Given the description of an element on the screen output the (x, y) to click on. 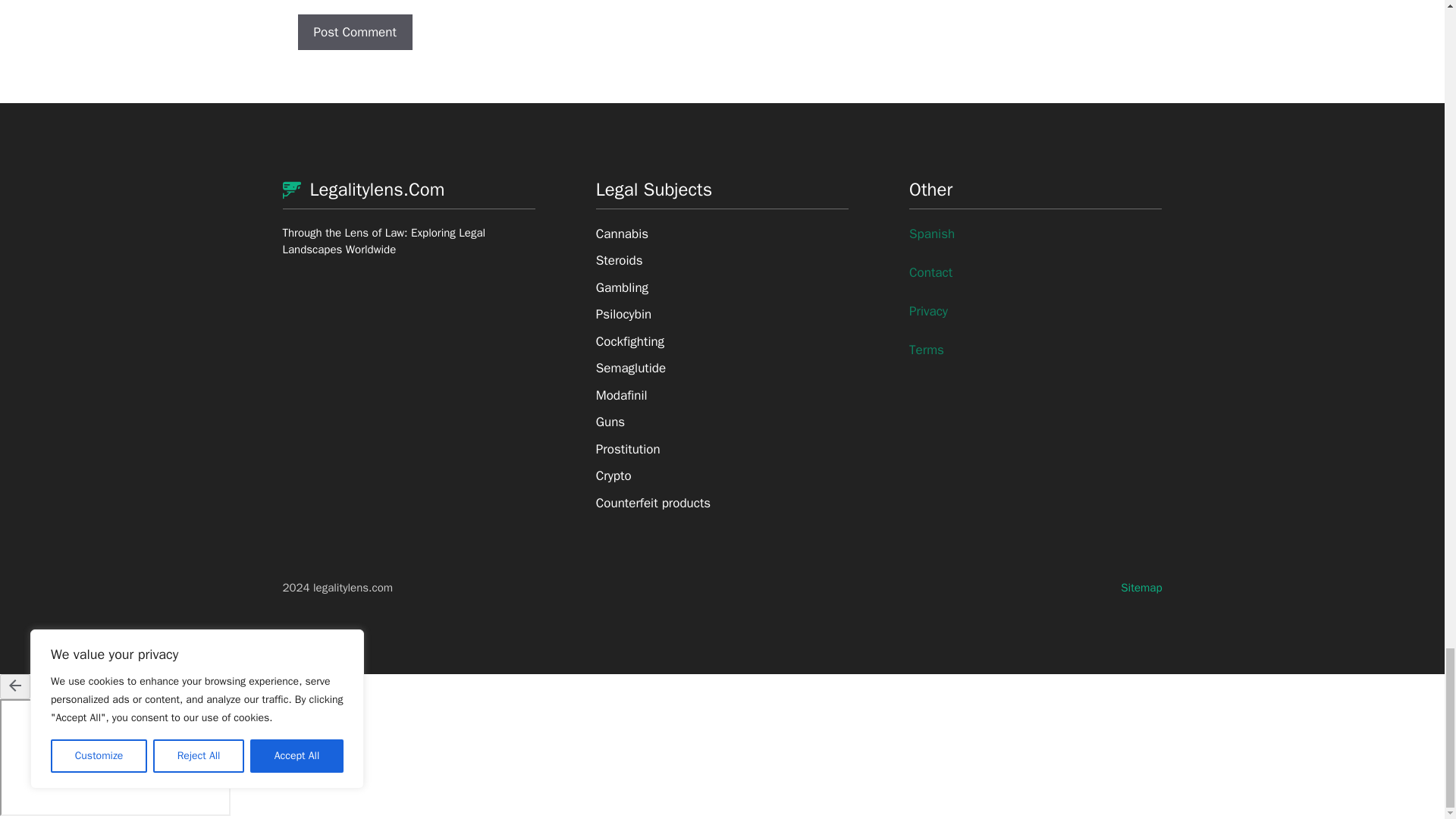
Post Comment (354, 32)
